Given the description of an element on the screen output the (x, y) to click on. 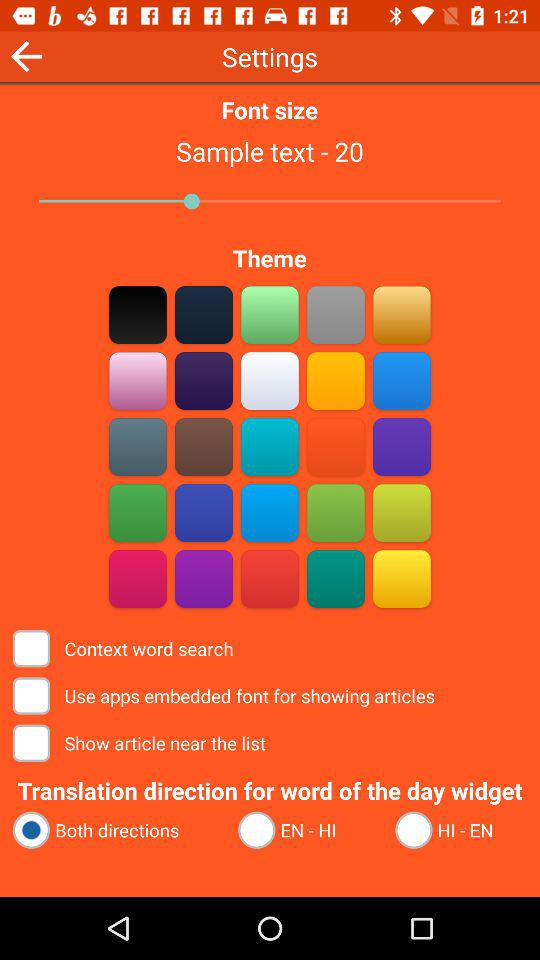
purple font button (137, 380)
